Given the description of an element on the screen output the (x, y) to click on. 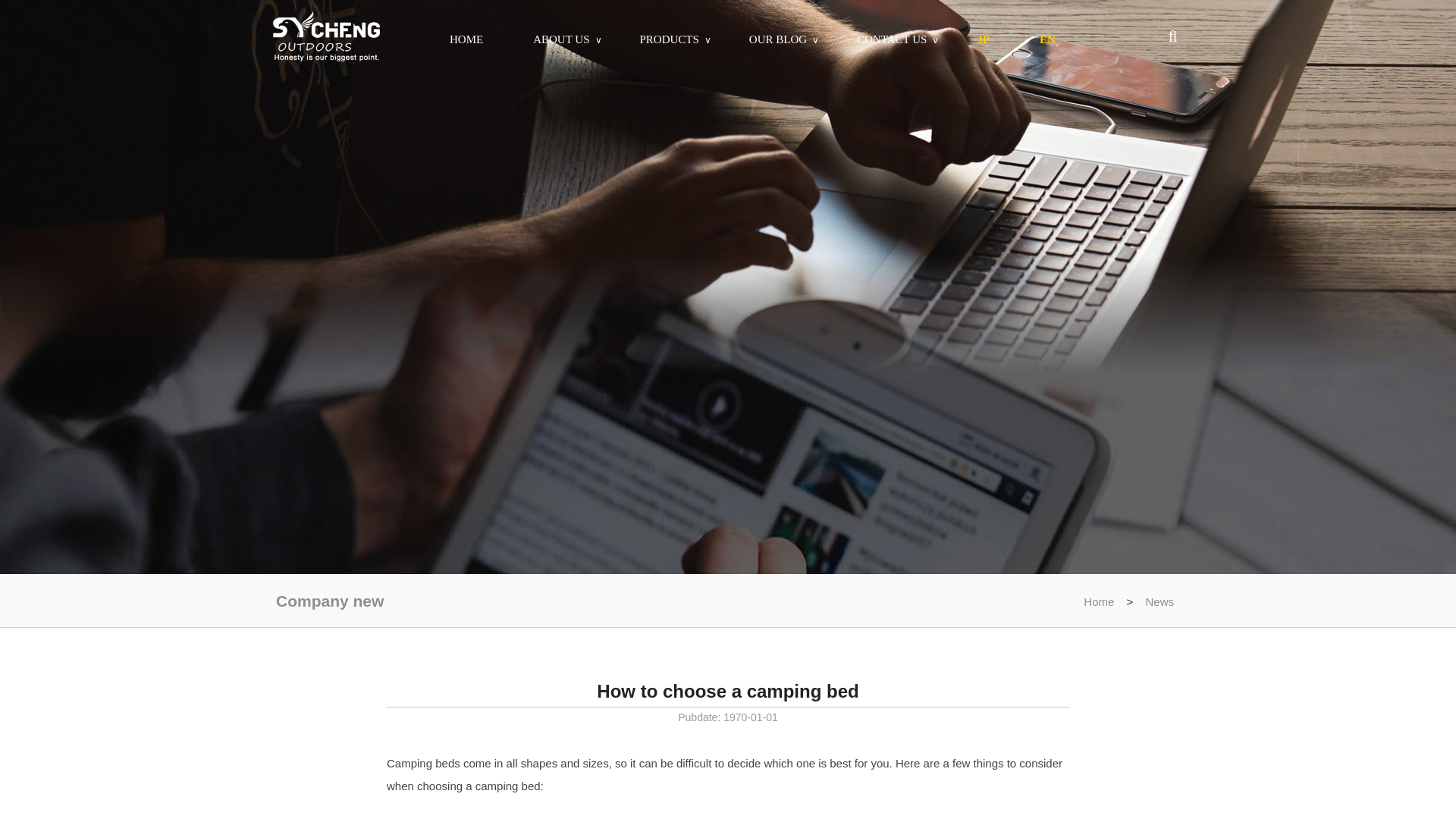
ABOUT US (560, 39)
CONTACT US (891, 39)
Return Home (326, 37)
JP (983, 39)
HOME (466, 39)
EN (1047, 39)
PRODUCTS (669, 39)
OUR BLOG (777, 39)
